Given the description of an element on the screen output the (x, y) to click on. 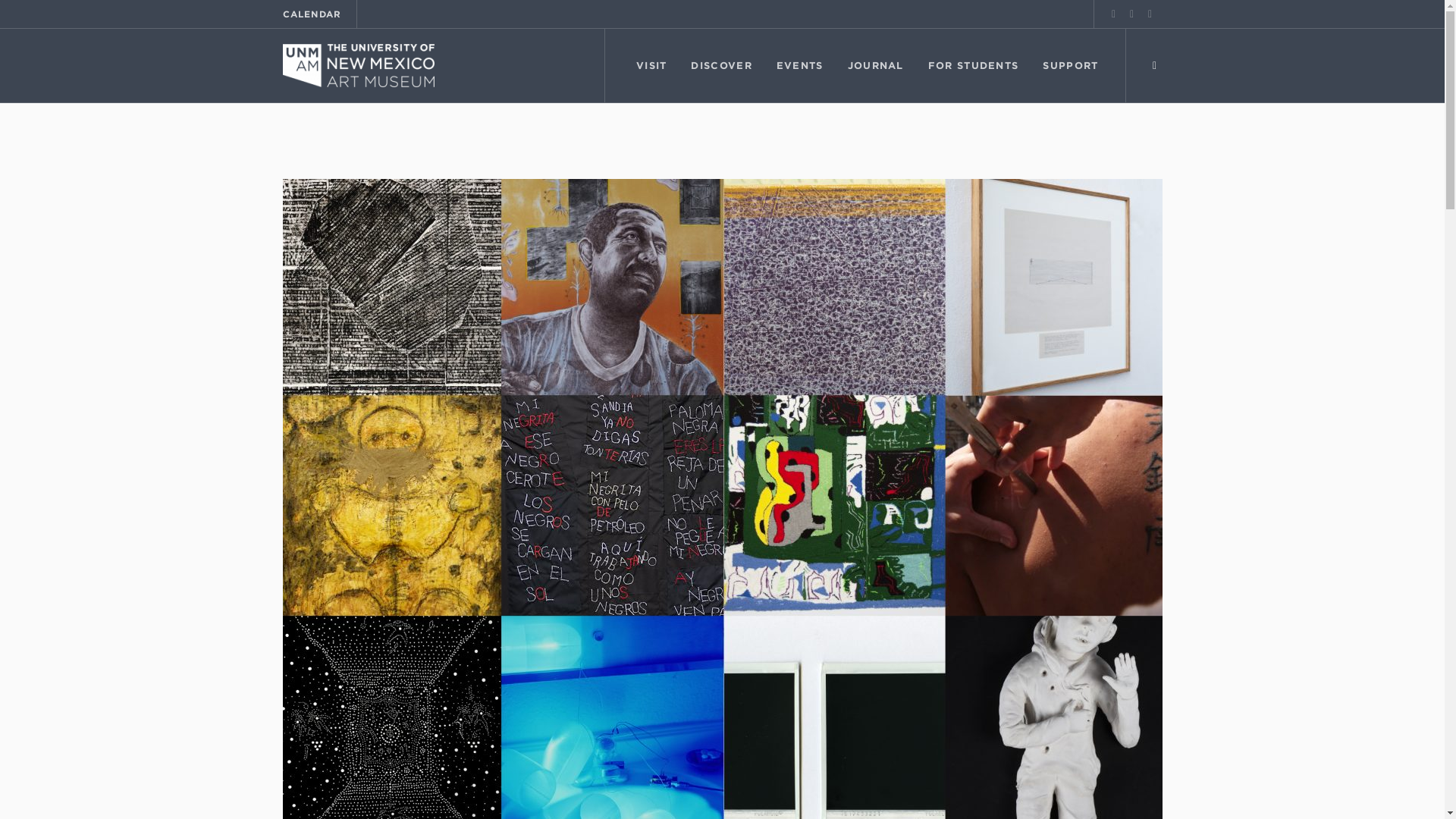
EVENTS (799, 65)
FOR STUDENTS (972, 65)
Instagram (1149, 13)
JOURNAL (875, 65)
DISCOVER (720, 65)
Twitter (1132, 13)
Facebook (1113, 13)
SUPPORT (1069, 65)
CALENDAR (311, 14)
